Given the description of an element on the screen output the (x, y) to click on. 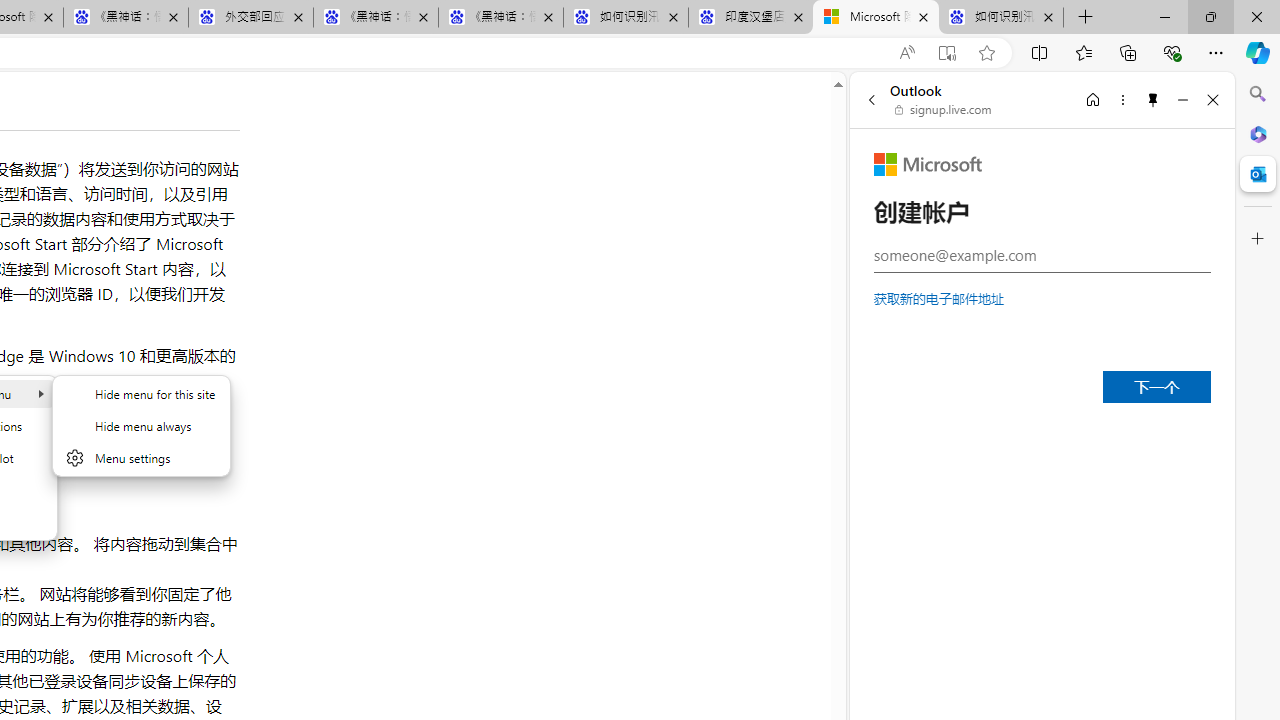
Hide menu (141, 437)
signup.live.com (943, 110)
